Given the description of an element on the screen output the (x, y) to click on. 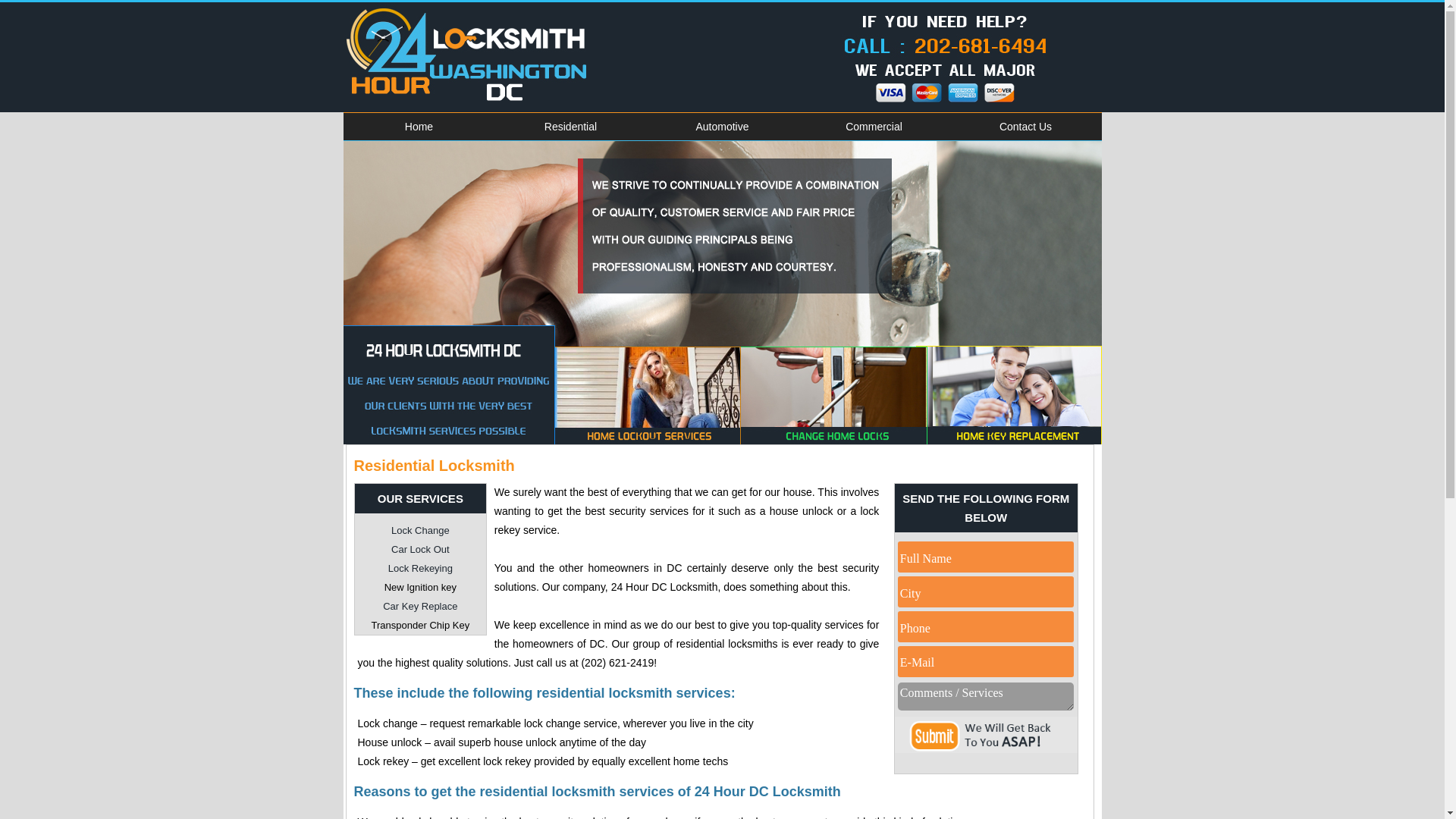
Contact Us Element type: text (1025, 126)
Residential Element type: text (570, 126)
Automotive Element type: text (721, 126)
Lock Change Element type: text (420, 530)
Home Element type: text (418, 126)
Car Key Replace Element type: text (419, 605)
Lock Rekeying Element type: text (420, 568)
Car Lock Out Element type: text (420, 549)
Commercial Element type: text (873, 126)
